Given the description of an element on the screen output the (x, y) to click on. 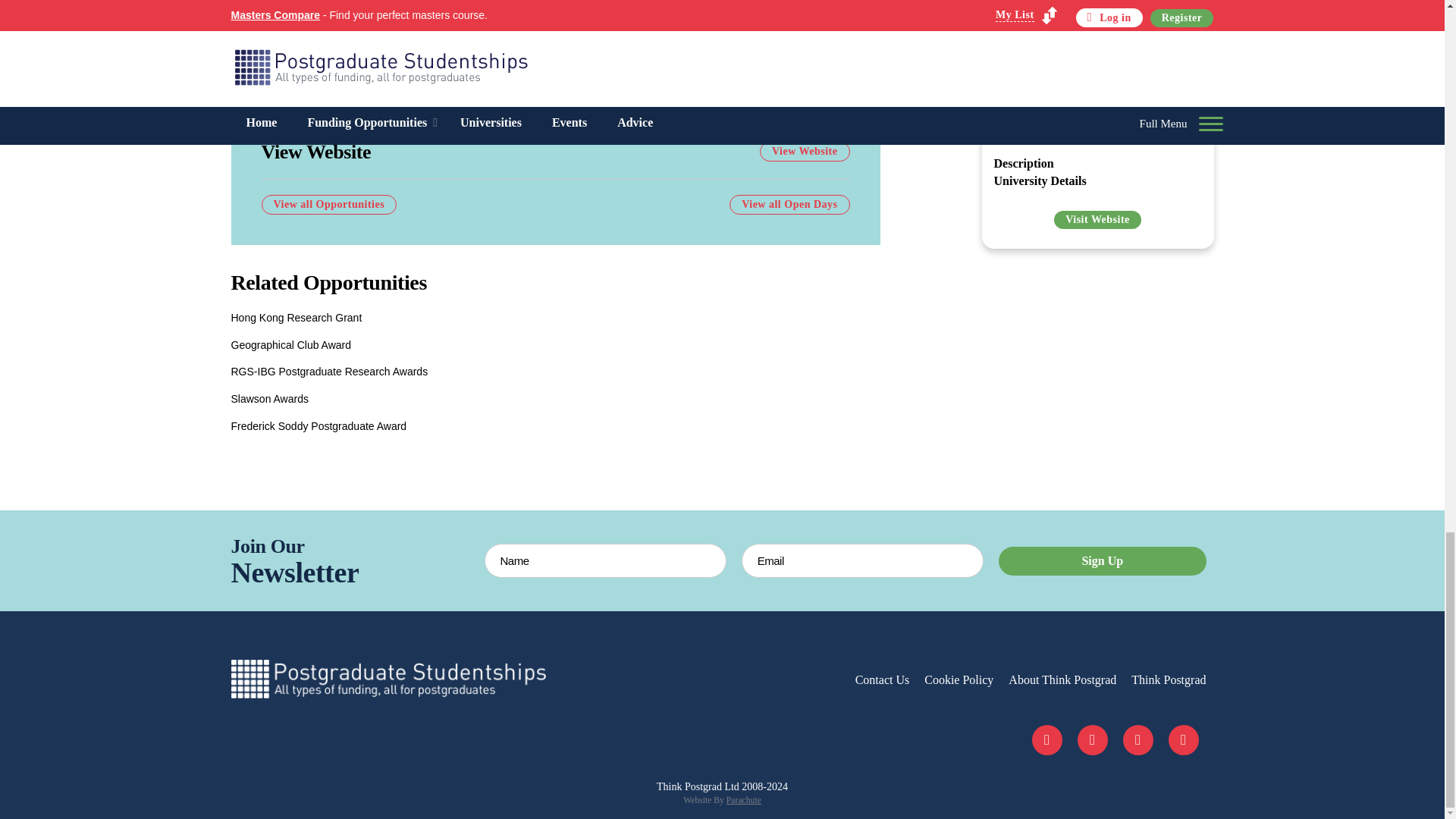
View all Opportunities (328, 204)
View Profile (807, 116)
View all Open Days (788, 204)
View Website (805, 151)
